Given the description of an element on the screen output the (x, y) to click on. 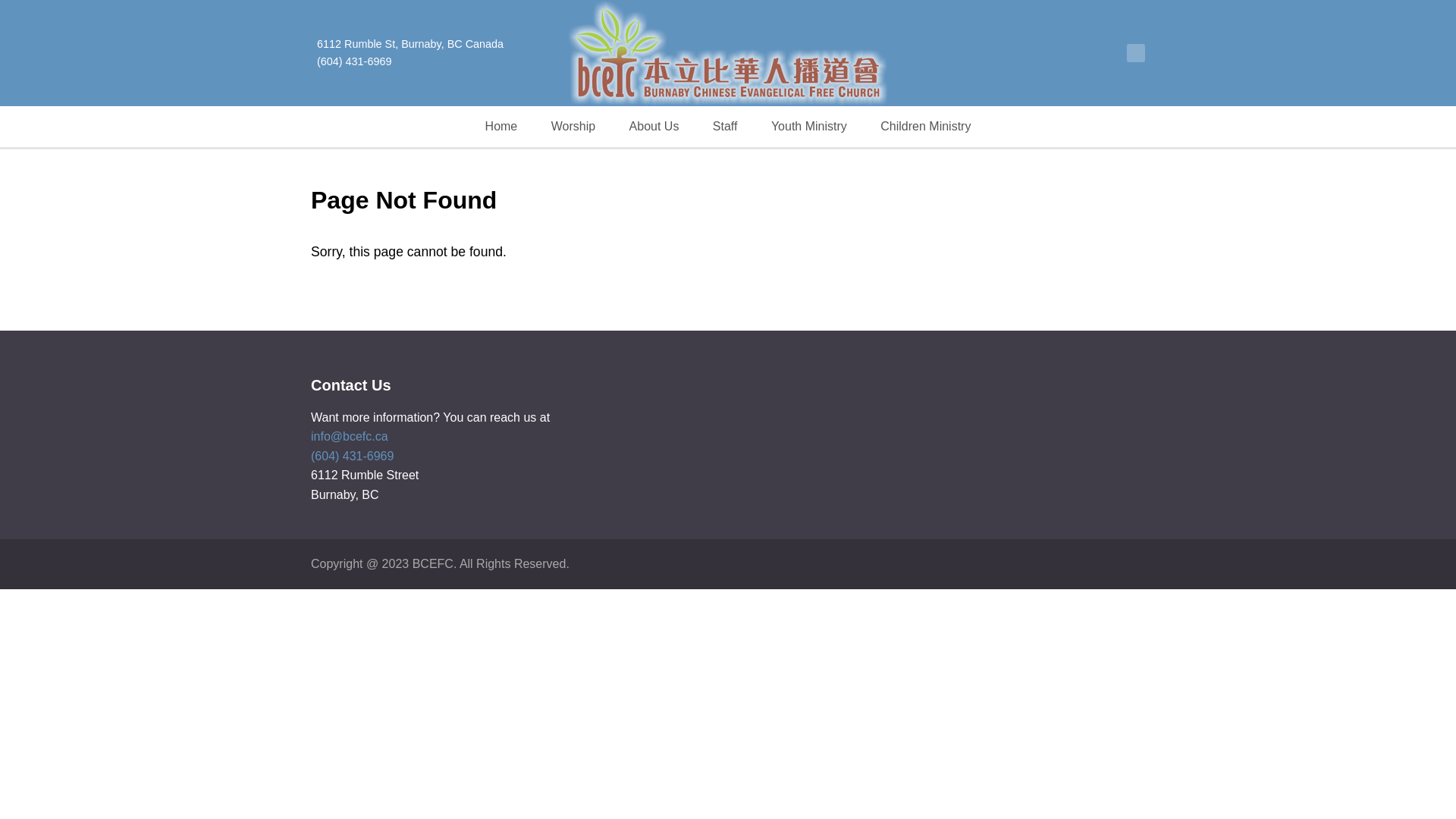
info@bcefc.ca Element type: text (349, 435)
Children Ministry Element type: text (925, 126)
Worship Element type: text (573, 126)
Home Element type: text (501, 126)
(604) 431-6969 Element type: text (351, 455)
About Us Element type: text (654, 126)
Staff Element type: text (725, 126)
Youth Ministry Element type: text (809, 126)
